Given the description of an element on the screen output the (x, y) to click on. 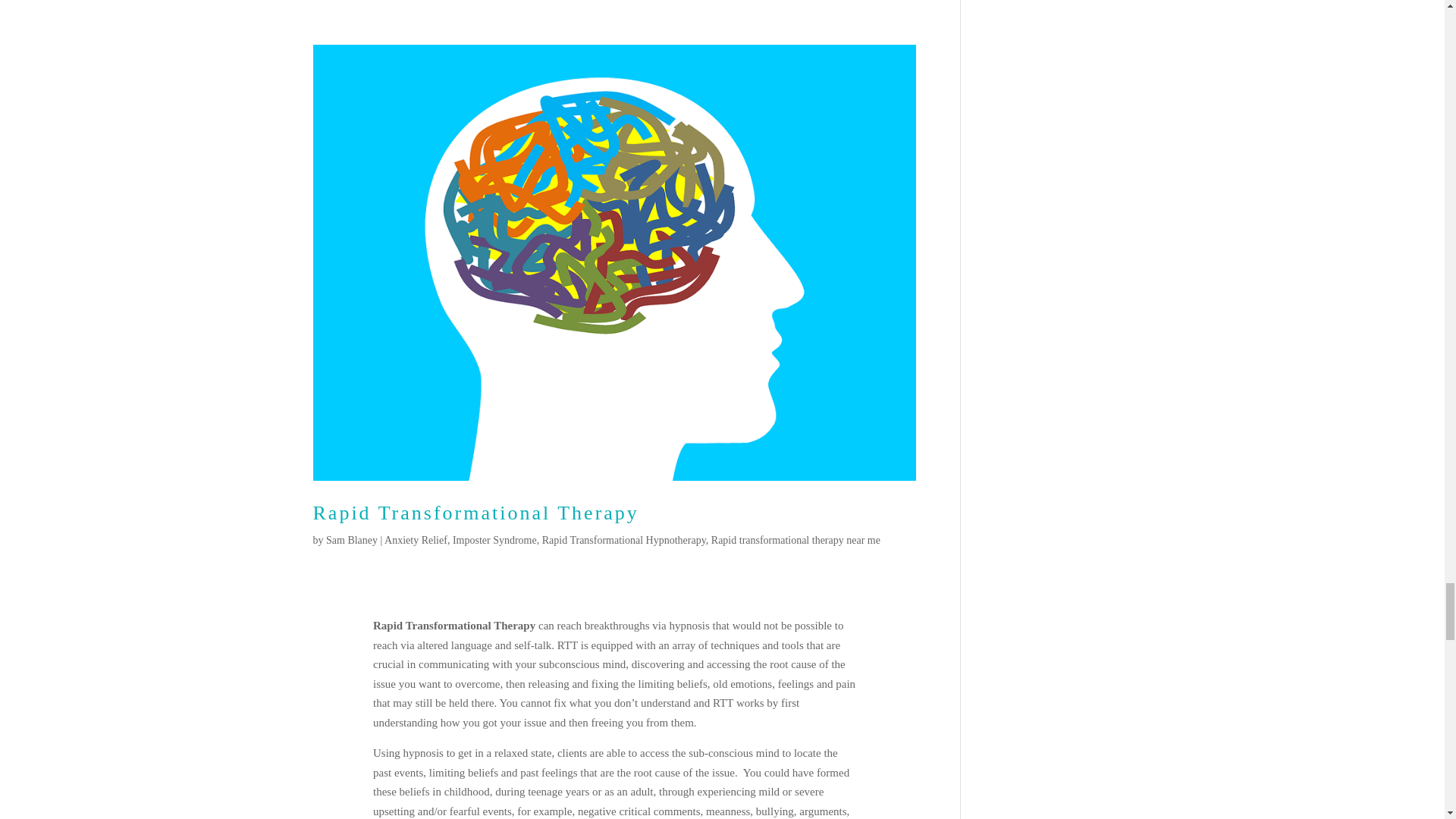
Posts by Sam Blaney (351, 540)
Rapid Transformational Therapy (476, 513)
Imposter Syndrome (494, 540)
Rapid transformational therapy near me (795, 540)
Rapid Transformational Hypnotherapy (623, 540)
Anxiety Relief (415, 540)
Sam Blaney (351, 540)
